Given the description of an element on the screen output the (x, y) to click on. 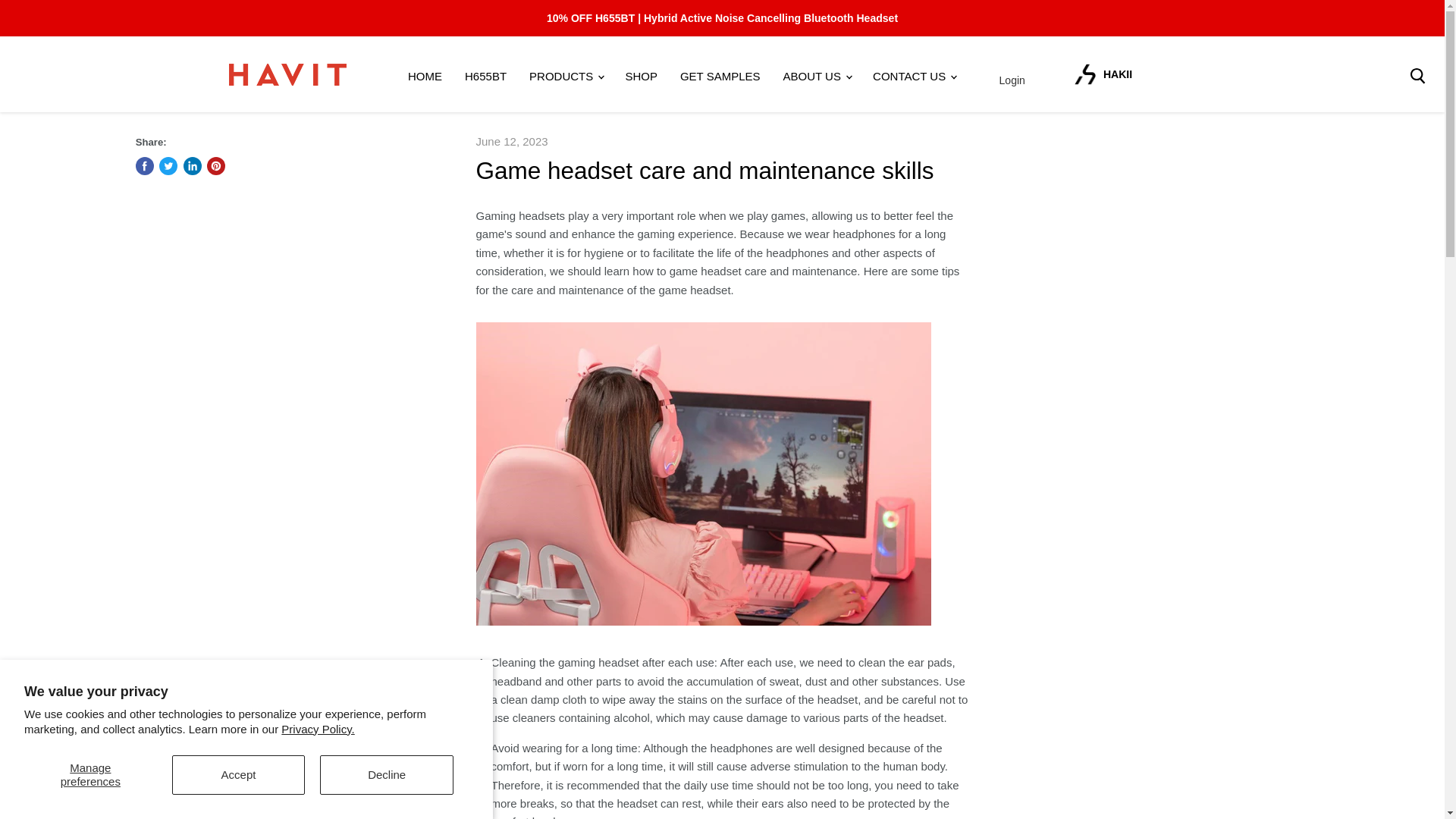
Manage preferences (90, 774)
Decline (386, 774)
Accept (238, 774)
PRODUCTS (565, 75)
H655BT (485, 75)
HOME (424, 75)
Privacy Policy. (317, 727)
